Given the description of an element on the screen output the (x, y) to click on. 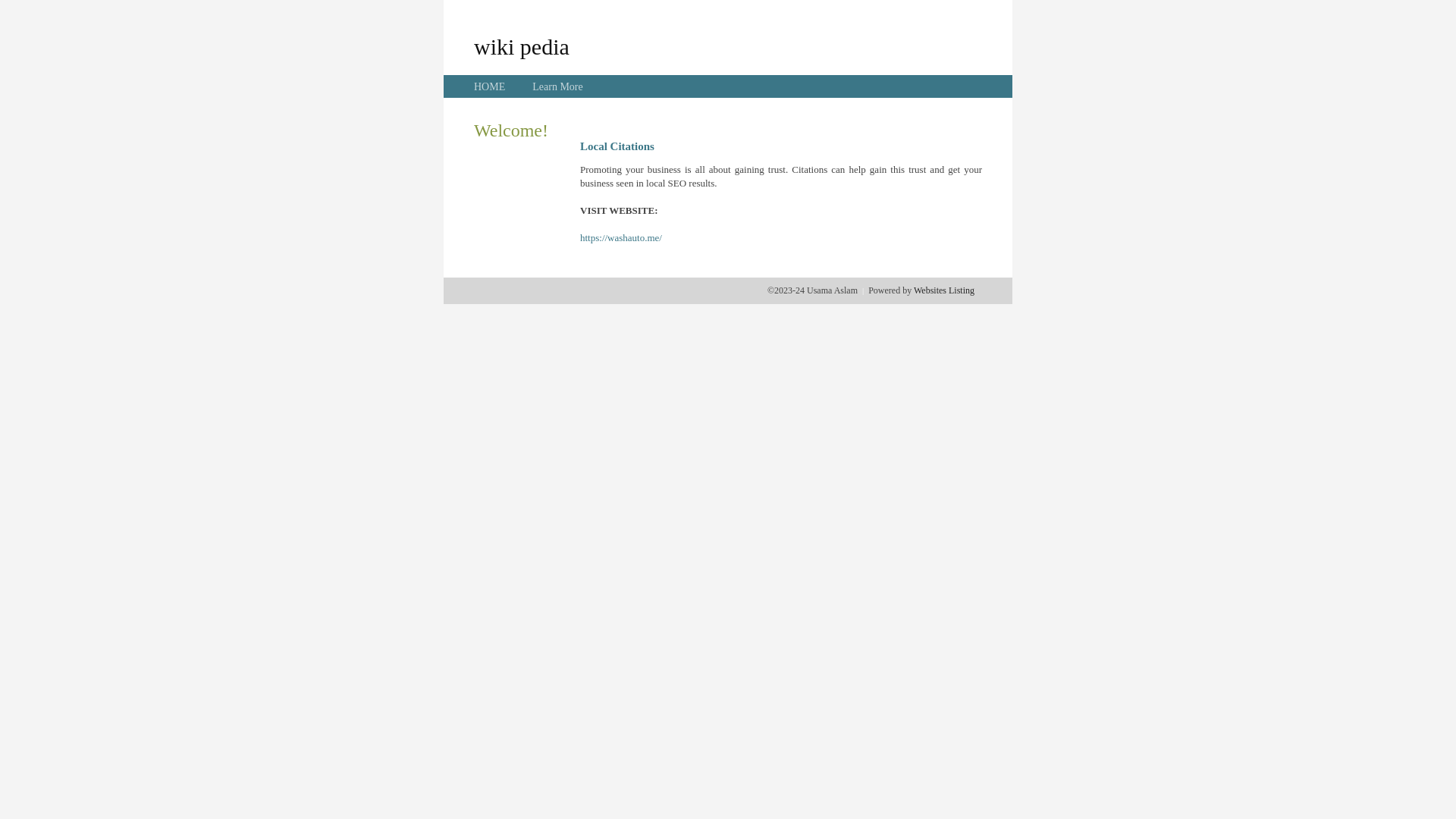
wiki pedia Element type: text (521, 46)
HOME Element type: text (489, 86)
Websites Listing Element type: text (943, 290)
https://washauto.me/ Element type: text (621, 237)
Learn More Element type: text (557, 86)
